Given the description of an element on the screen output the (x, y) to click on. 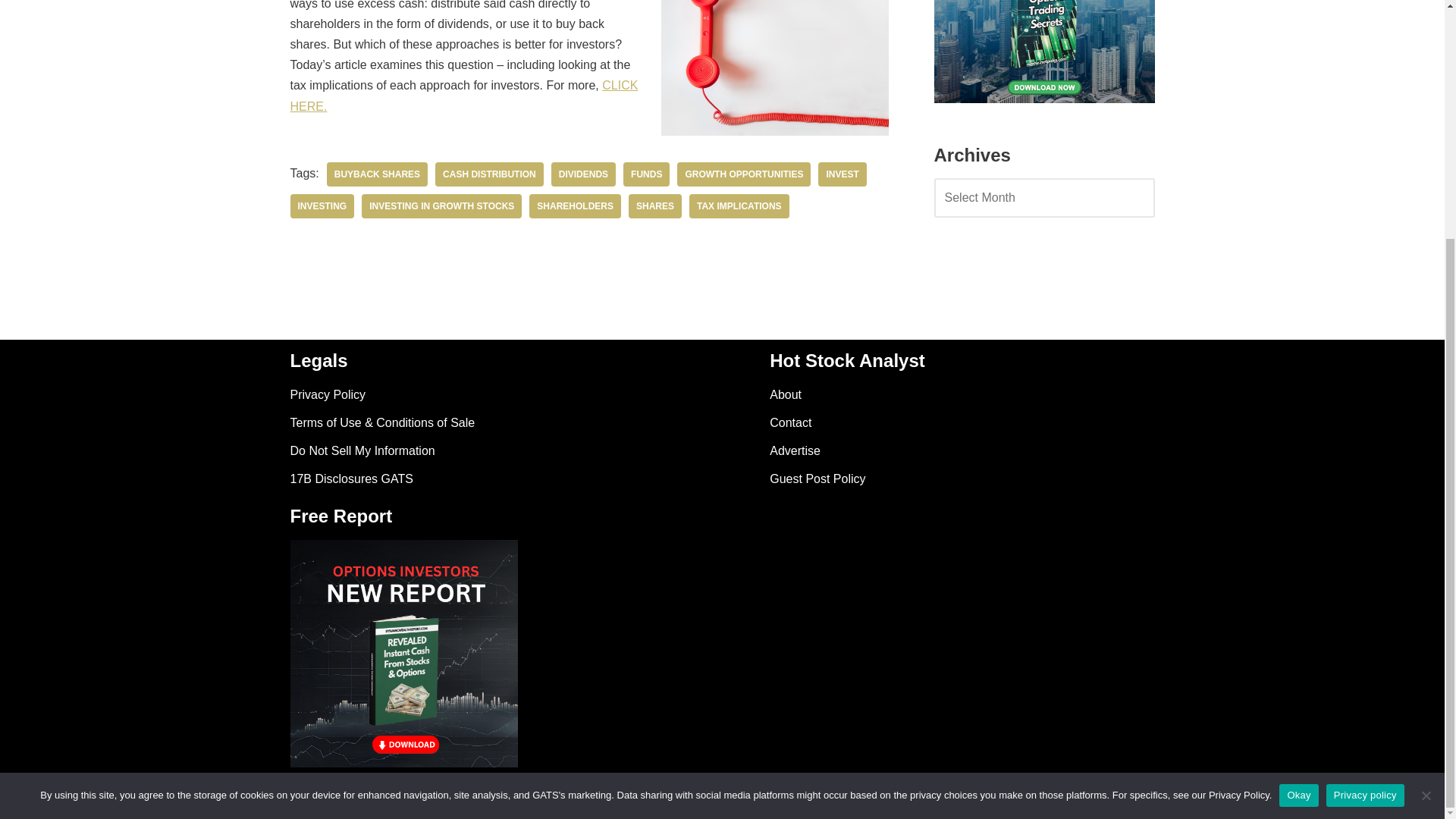
SHAREHOLDERS (575, 206)
Shares (654, 206)
Do Not Sell My Information (361, 450)
FUNDS (646, 174)
Privacy Policy (327, 394)
DIVIDENDS (583, 174)
WordPress (425, 798)
INVESTING IN GROWTH STOCKS (441, 206)
Shareholders (575, 206)
Cash Distribution (489, 174)
CLICK HERE. (463, 95)
INVEST (842, 174)
CASH DISTRIBUTION (489, 174)
Tax Implications (738, 206)
INVESTING (321, 206)
